Given the description of an element on the screen output the (x, y) to click on. 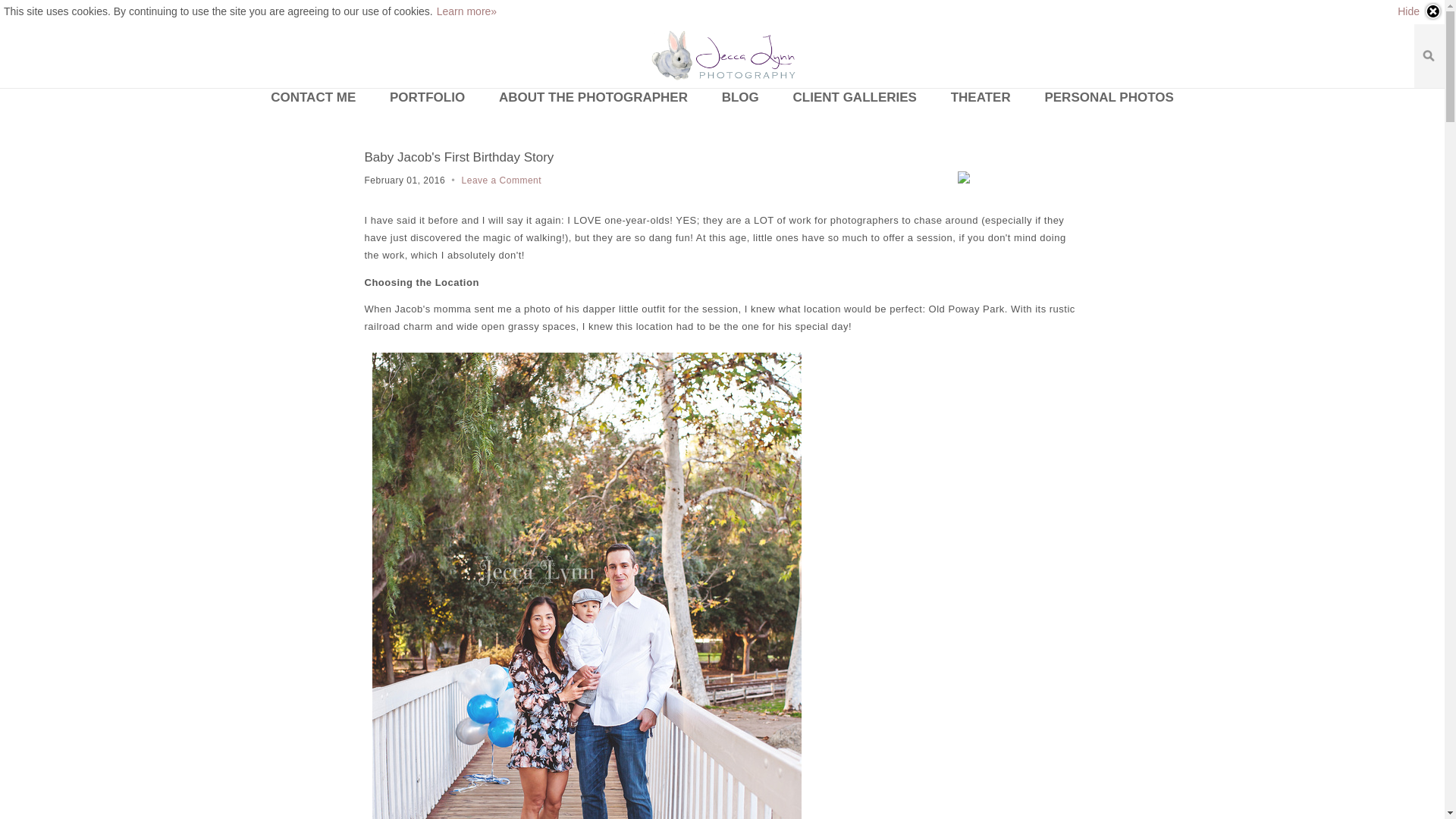
CLIENT GALLERIES (854, 96)
THEATER (981, 96)
ABOUT THE PHOTOGRAPHER (593, 96)
PERSONAL PHOTOS (1108, 96)
Hide (1419, 11)
BLOG (740, 96)
Leave a Comment (501, 179)
CONTACT ME (313, 96)
PORTFOLIO (427, 96)
Jecca Lynn Photography (722, 56)
